Given the description of an element on the screen output the (x, y) to click on. 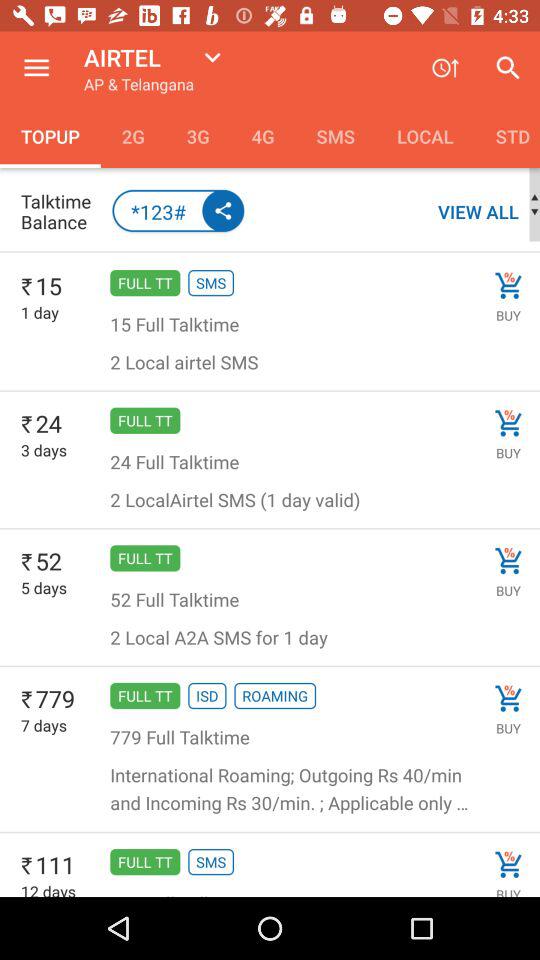
turn off the item to the left of the airtel icon (36, 68)
